Given the description of an element on the screen output the (x, y) to click on. 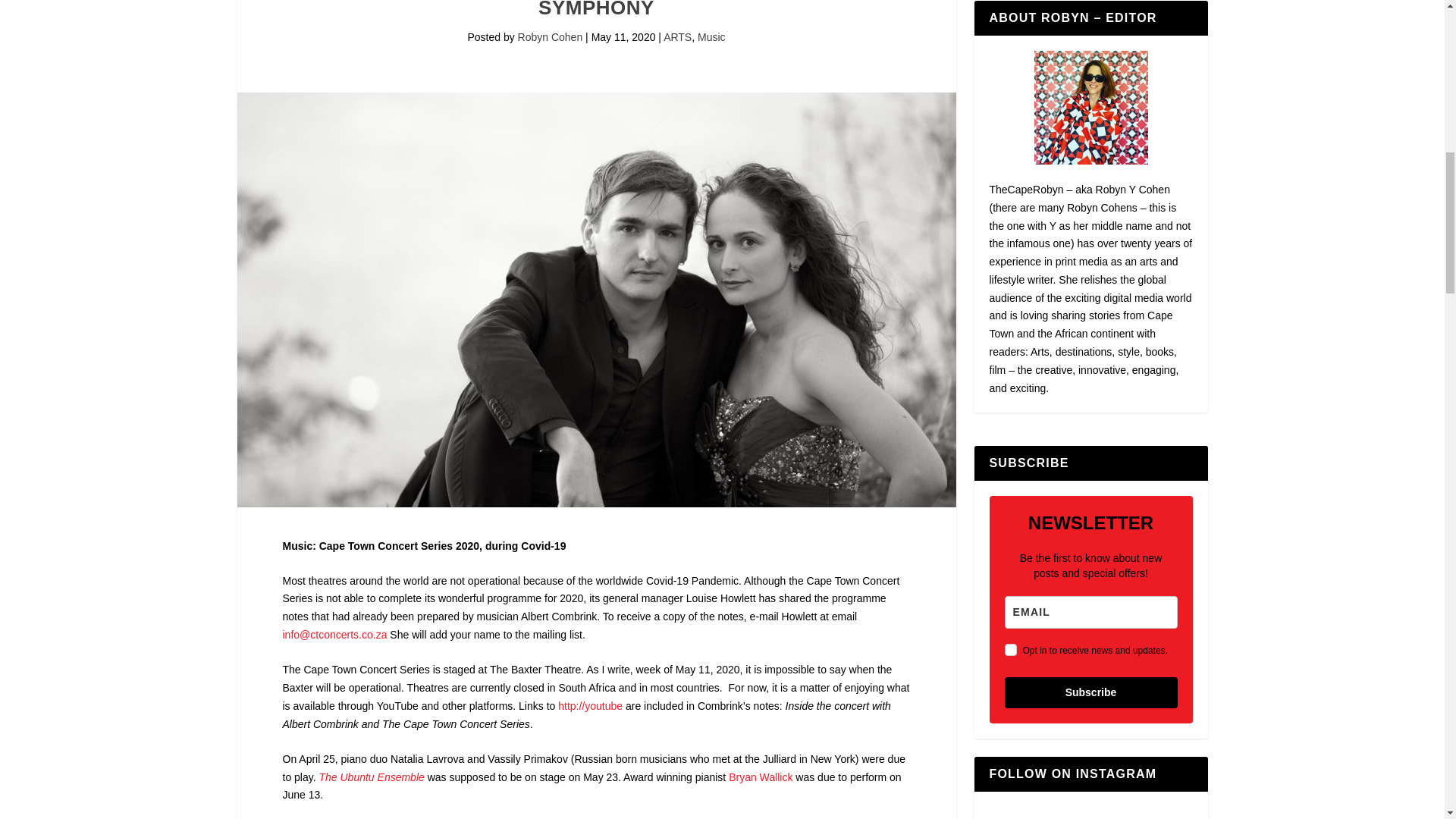
Posts by Robyn Cohen (550, 37)
